Given the description of an element on the screen output the (x, y) to click on. 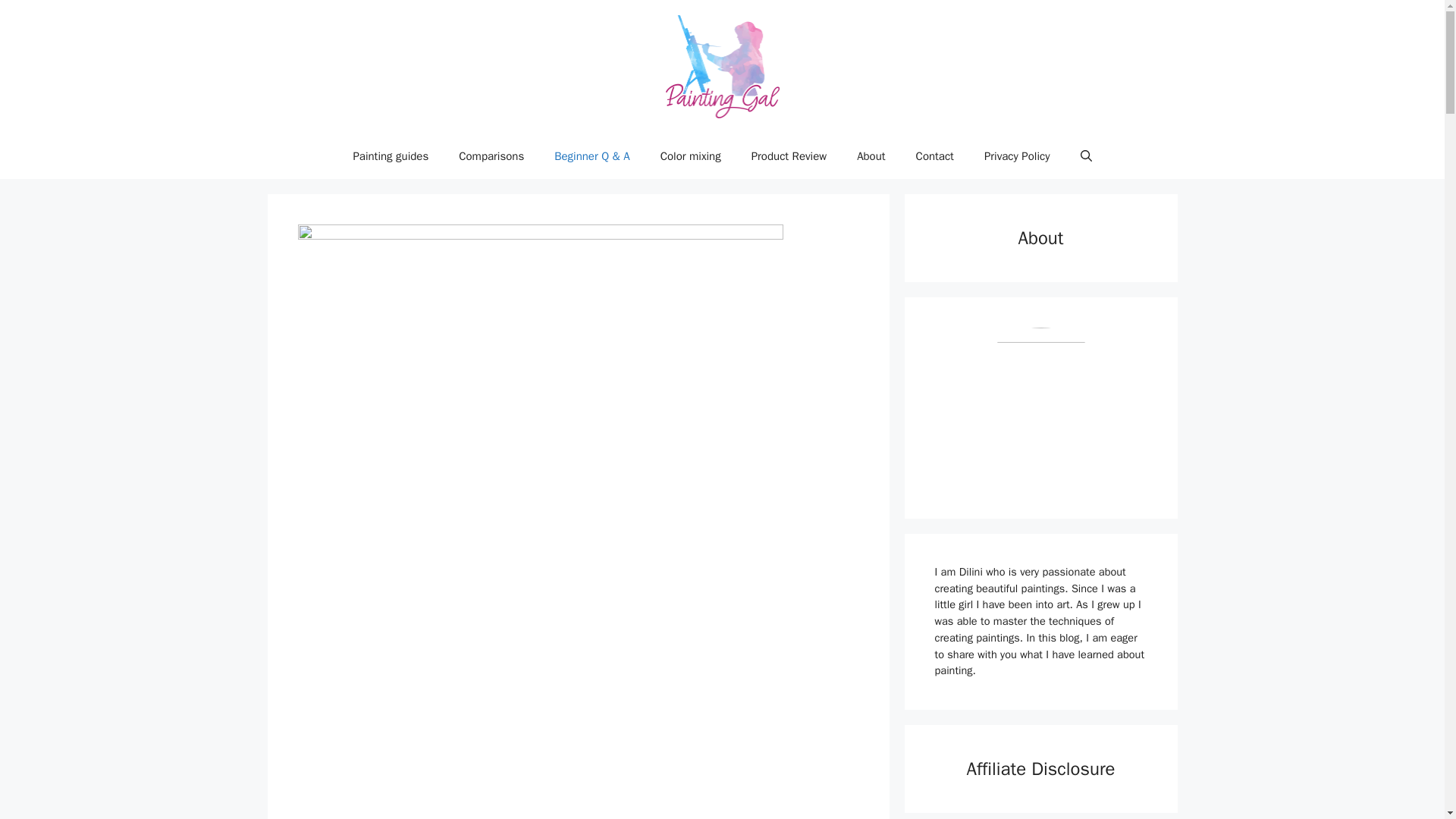
Product Review (788, 156)
About (870, 156)
Privacy Policy (1017, 156)
Contact (935, 156)
Painting guides (390, 156)
Comparisons (491, 156)
Color mixing (690, 156)
